Given the description of an element on the screen output the (x, y) to click on. 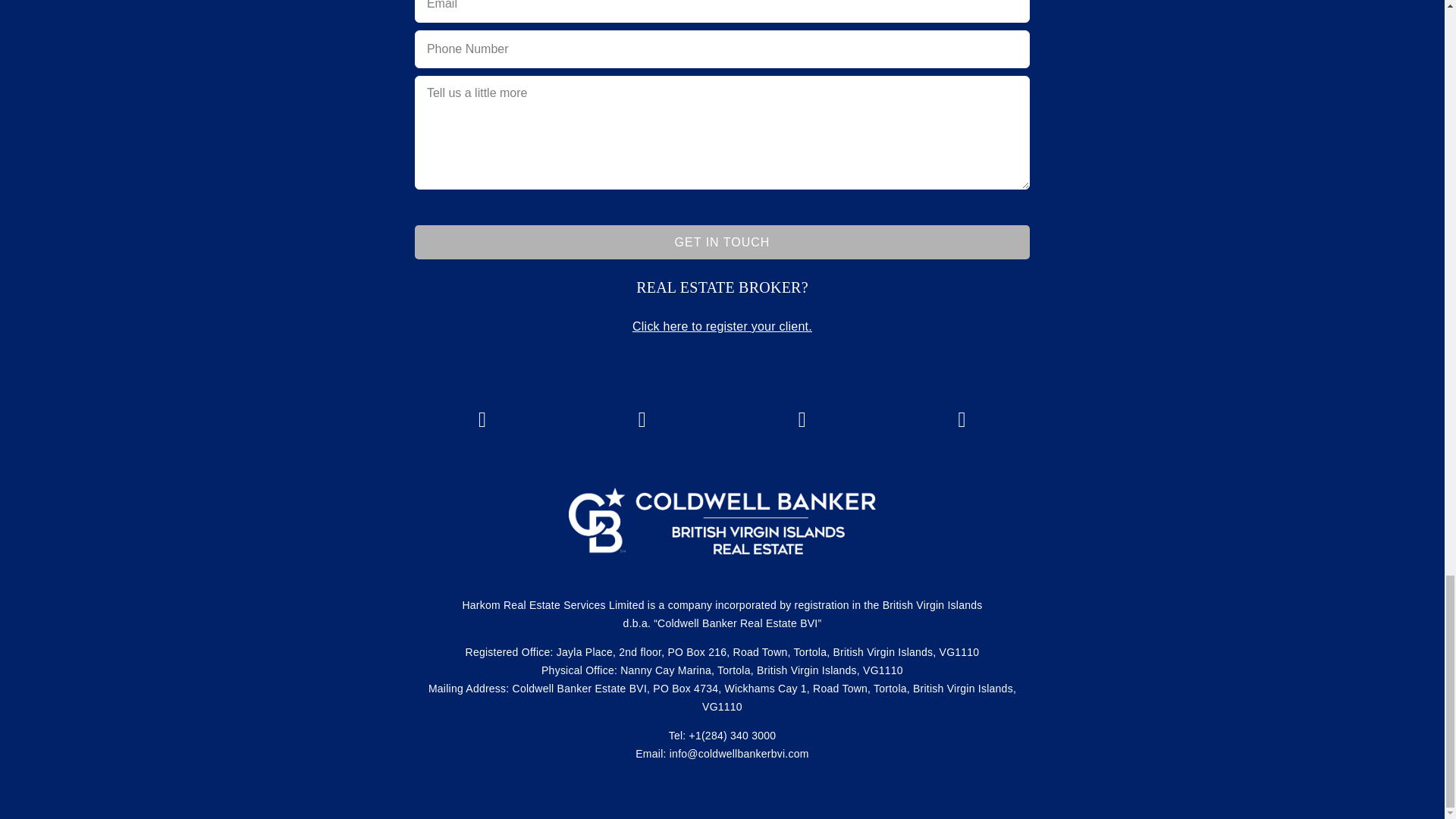
Page 1 (721, 287)
GET IN TOUCH (721, 242)
